Given the description of an element on the screen output the (x, y) to click on. 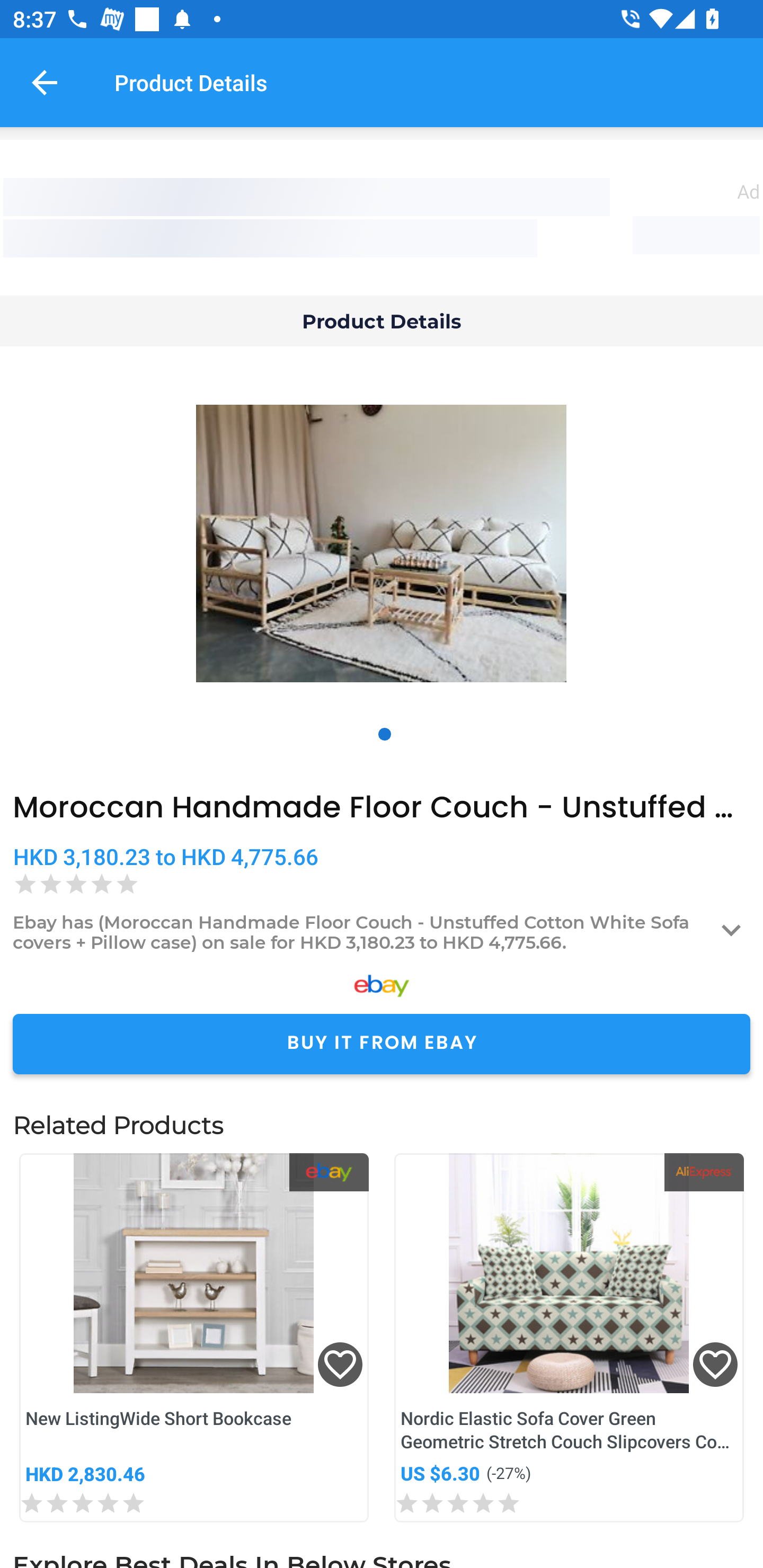
Navigate up (44, 82)
BUY IT FROM EBAY (381, 1044)
New ListingWide Short Bookcase HKD 2,830.46 0.0 (193, 1337)
